Given the description of an element on the screen output the (x, y) to click on. 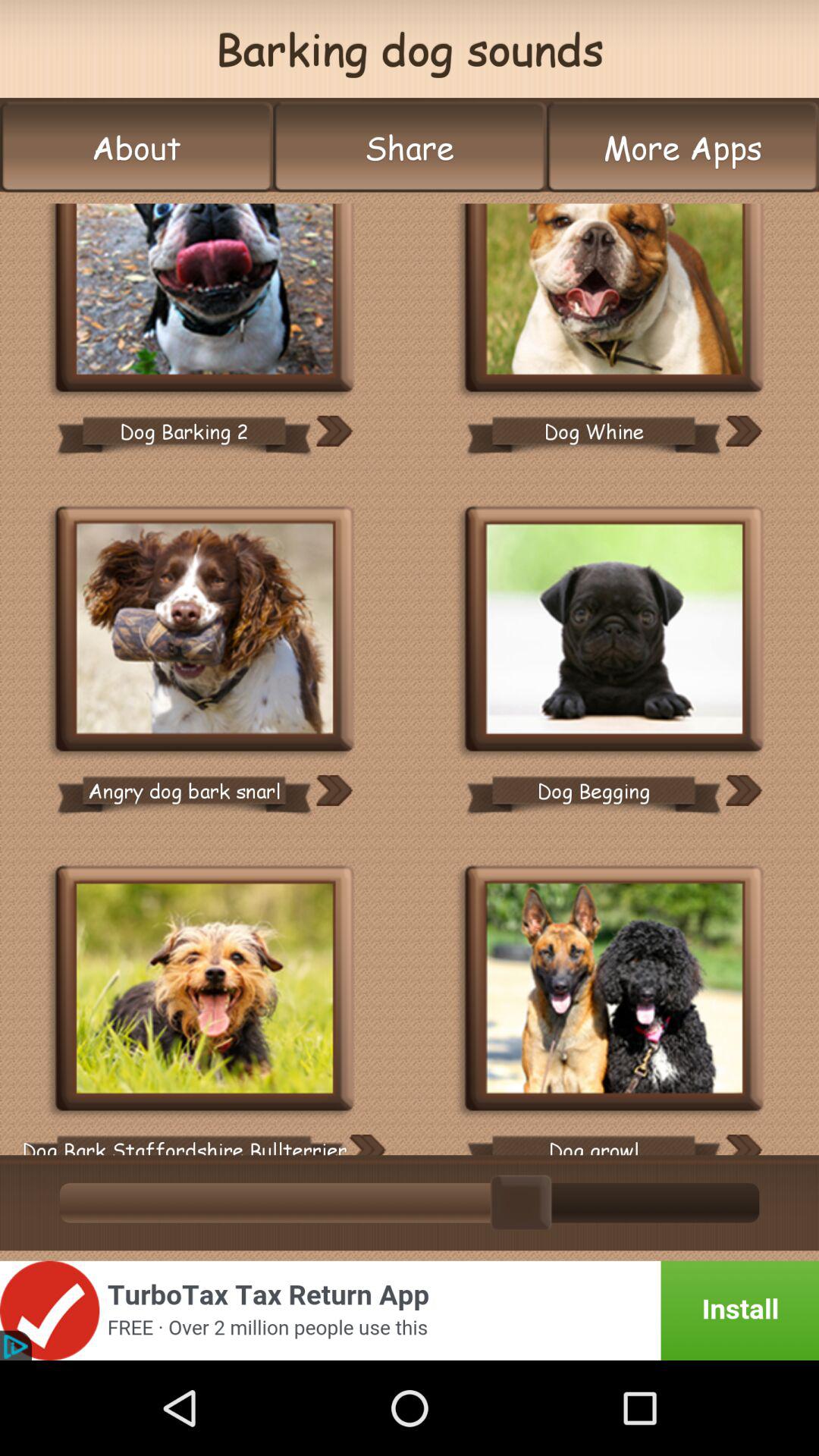
select the icon next to the more apps icon (409, 147)
